Given the description of an element on the screen output the (x, y) to click on. 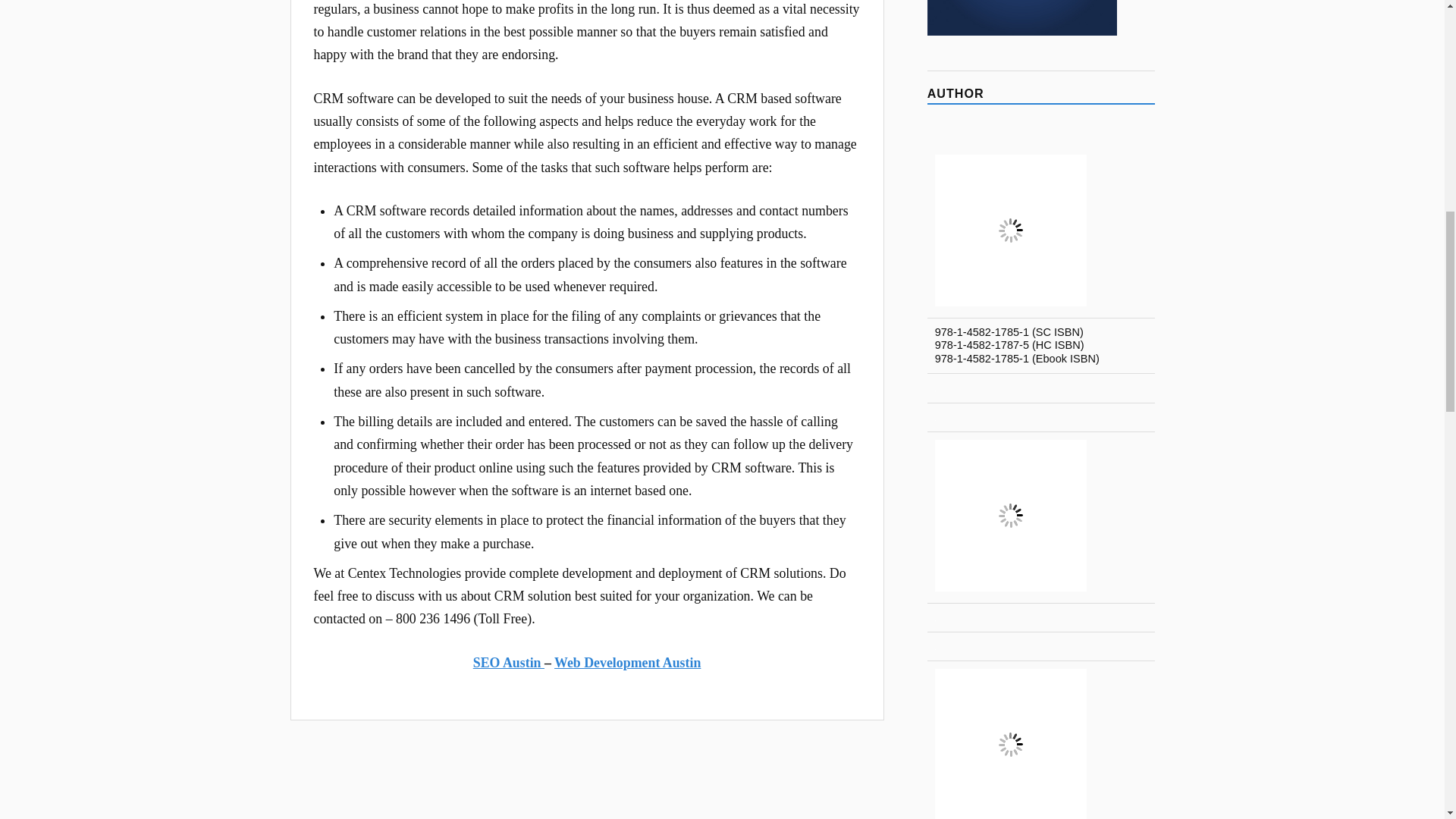
Web Development Austin (627, 662)
SEO Austin  (508, 662)
SEO Austin (508, 662)
Web Development Austin (627, 662)
